Given the description of an element on the screen output the (x, y) to click on. 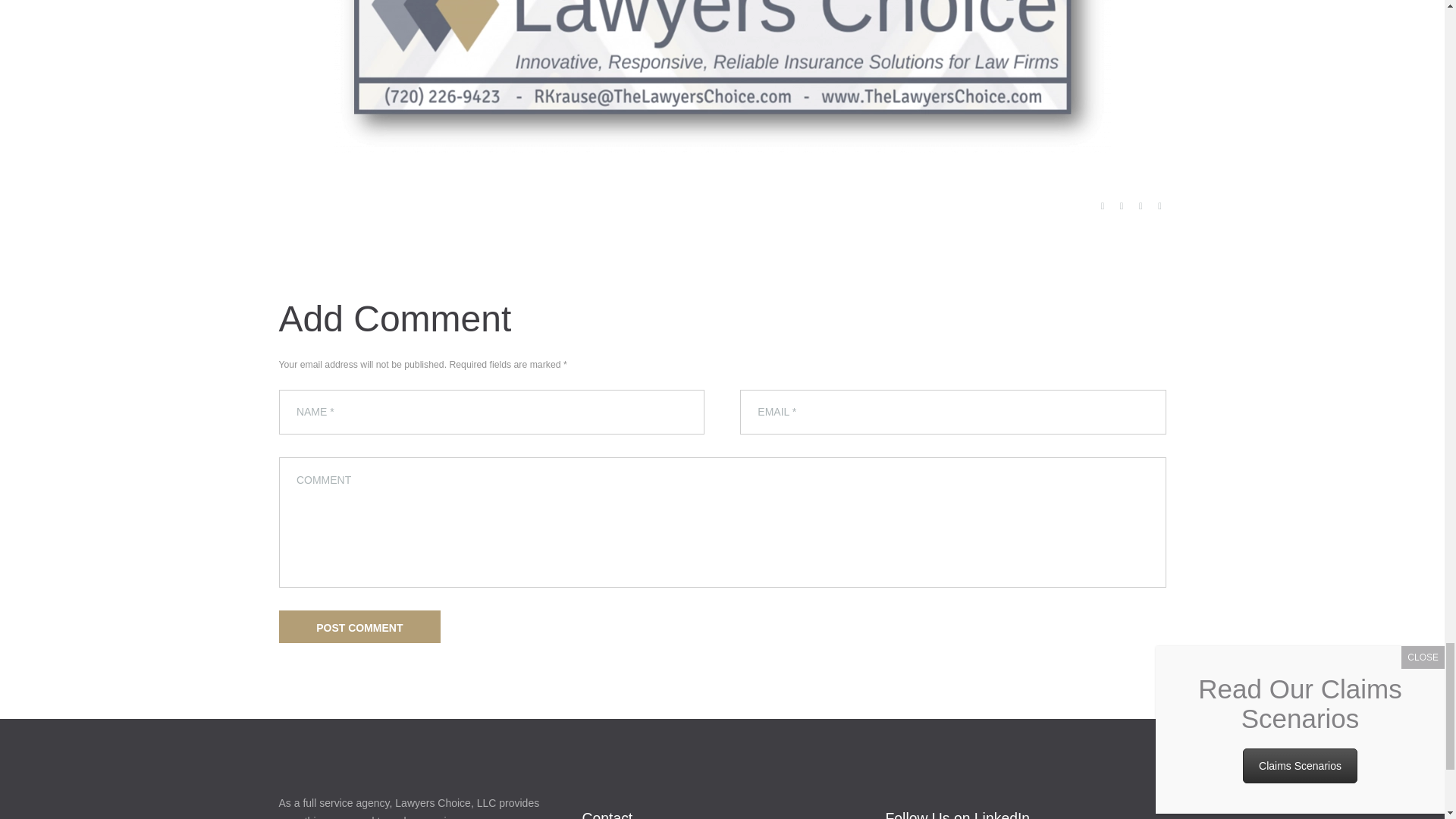
Post Comment (360, 626)
Post Comment (360, 626)
